Given the description of an element on the screen output the (x, y) to click on. 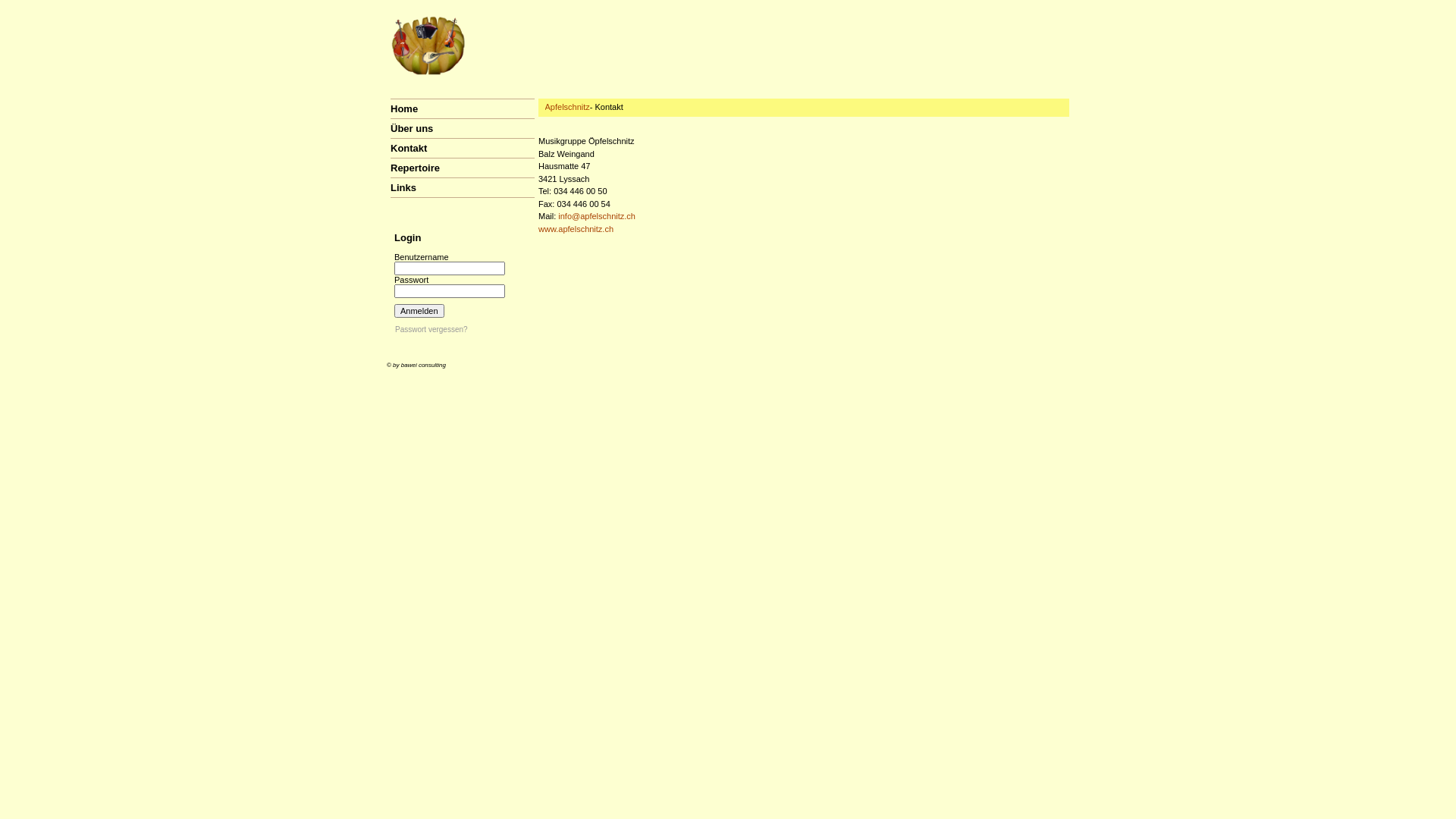
info@apfelschnitz.ch Element type: text (596, 215)
Passwort vergessen? Element type: text (431, 329)
Apfelschnitz Element type: text (566, 106)
Home Element type: text (403, 108)
Repertoire Element type: text (414, 167)
Links Element type: text (403, 187)
Anmelden Element type: text (419, 310)
  Element type: text (385, 197)
www.apfelschnitz.ch Element type: text (575, 228)
